Given the description of an element on the screen output the (x, y) to click on. 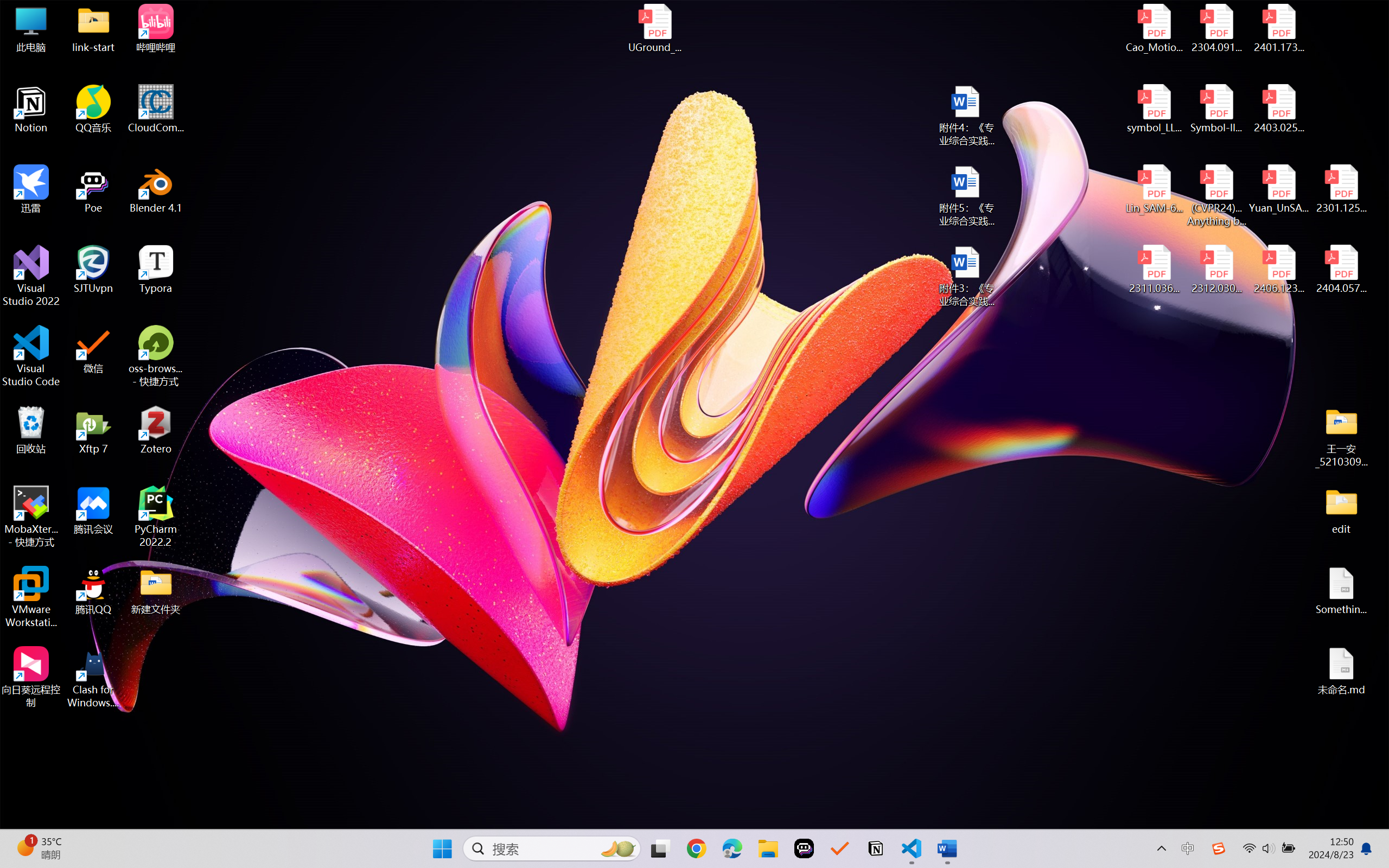
Microsoft Edge (731, 848)
2401.17399v1.pdf (1278, 28)
PyCharm 2022.2 (156, 516)
symbol_LLM.pdf (1154, 109)
